Given the description of an element on the screen output the (x, y) to click on. 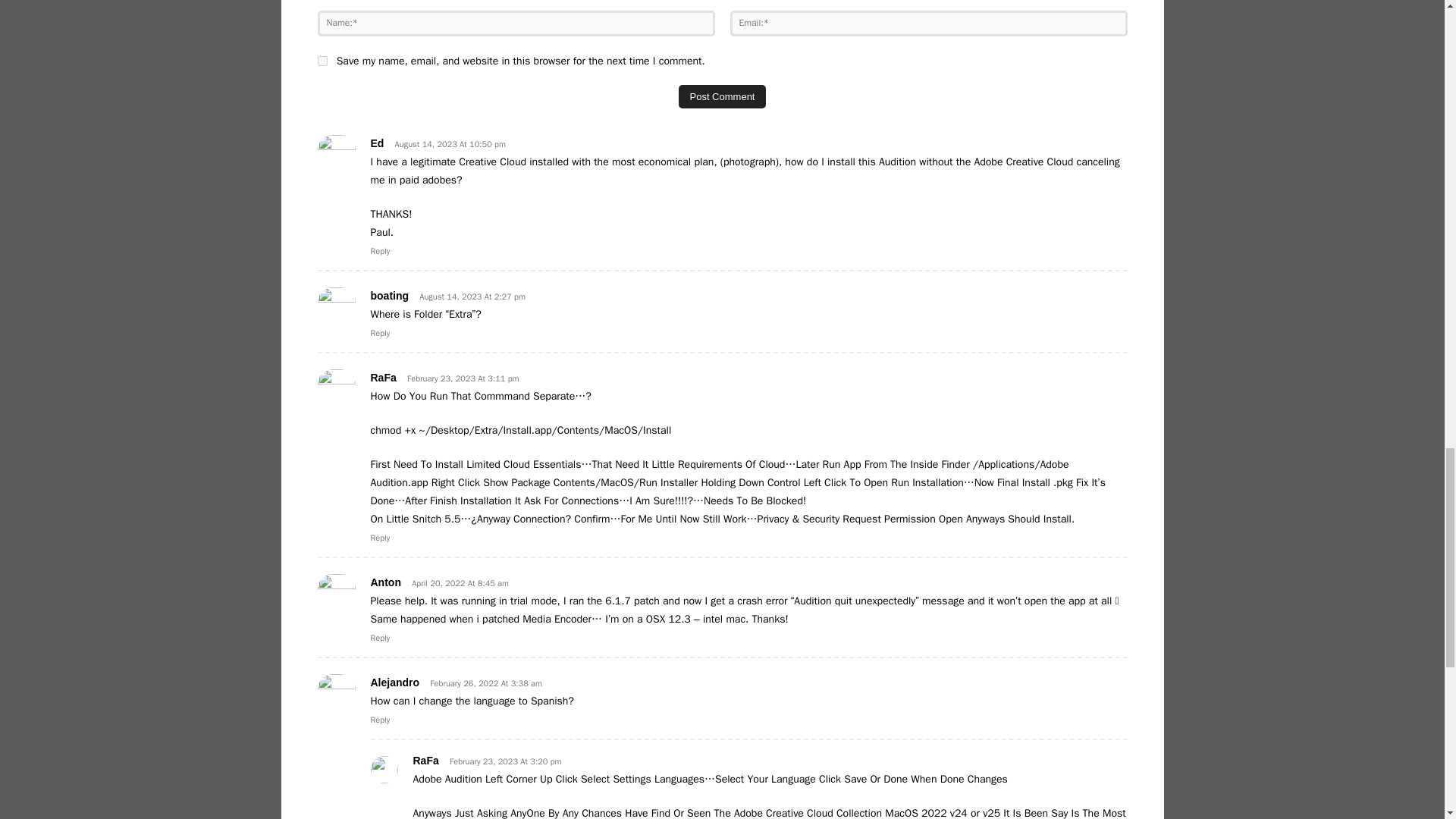
Post Comment (721, 96)
yes (321, 61)
